Given the description of an element on the screen output the (x, y) to click on. 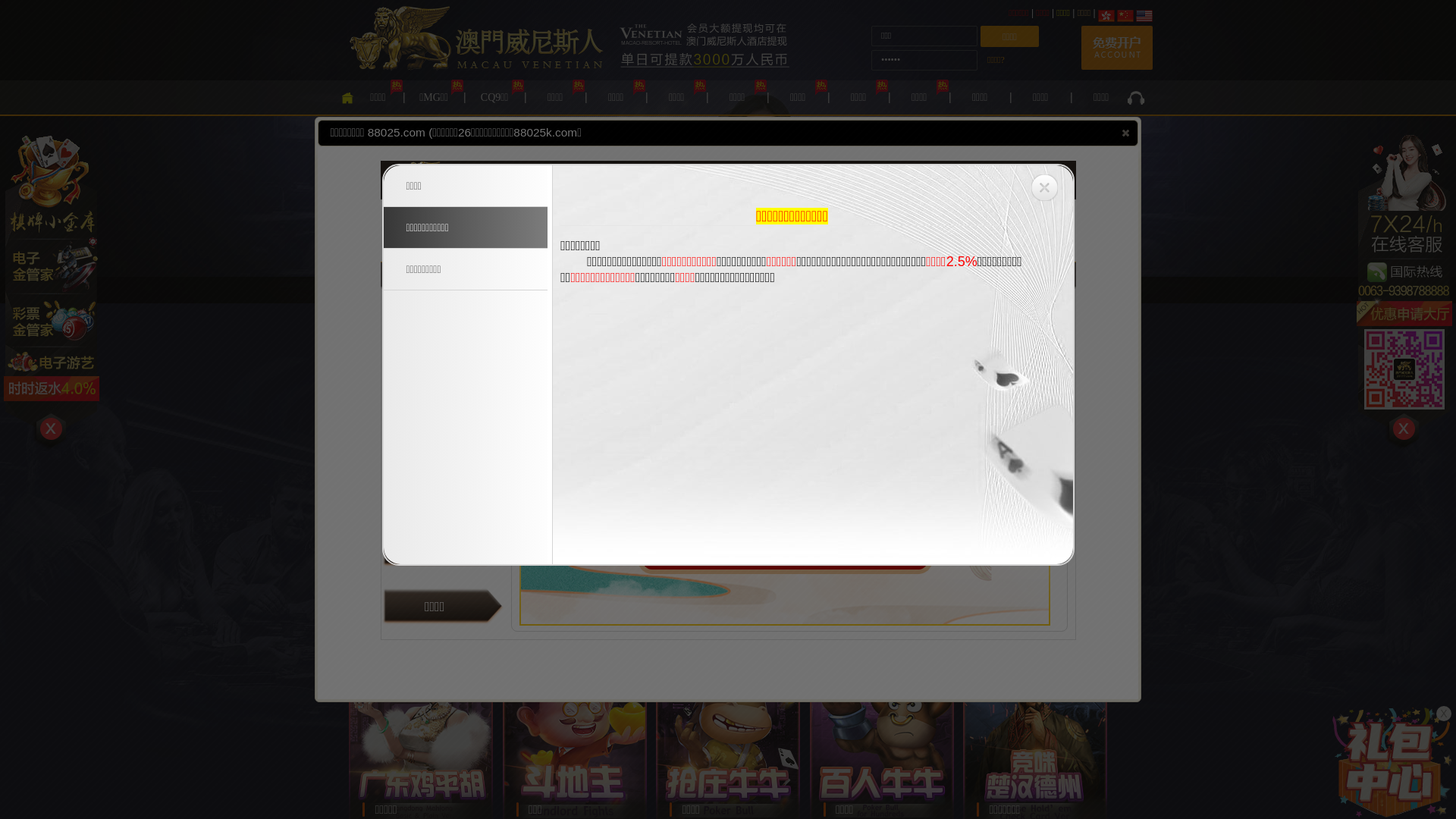
0 Element type: text (1191, 356)
0 Element type: text (1345, 356)
0 Element type: text (1113, 356)
close Element type: text (1125, 132)
0 Element type: text (1268, 356)
X Element type: text (1443, 713)
0 Element type: text (340, 356)
